Given the description of an element on the screen output the (x, y) to click on. 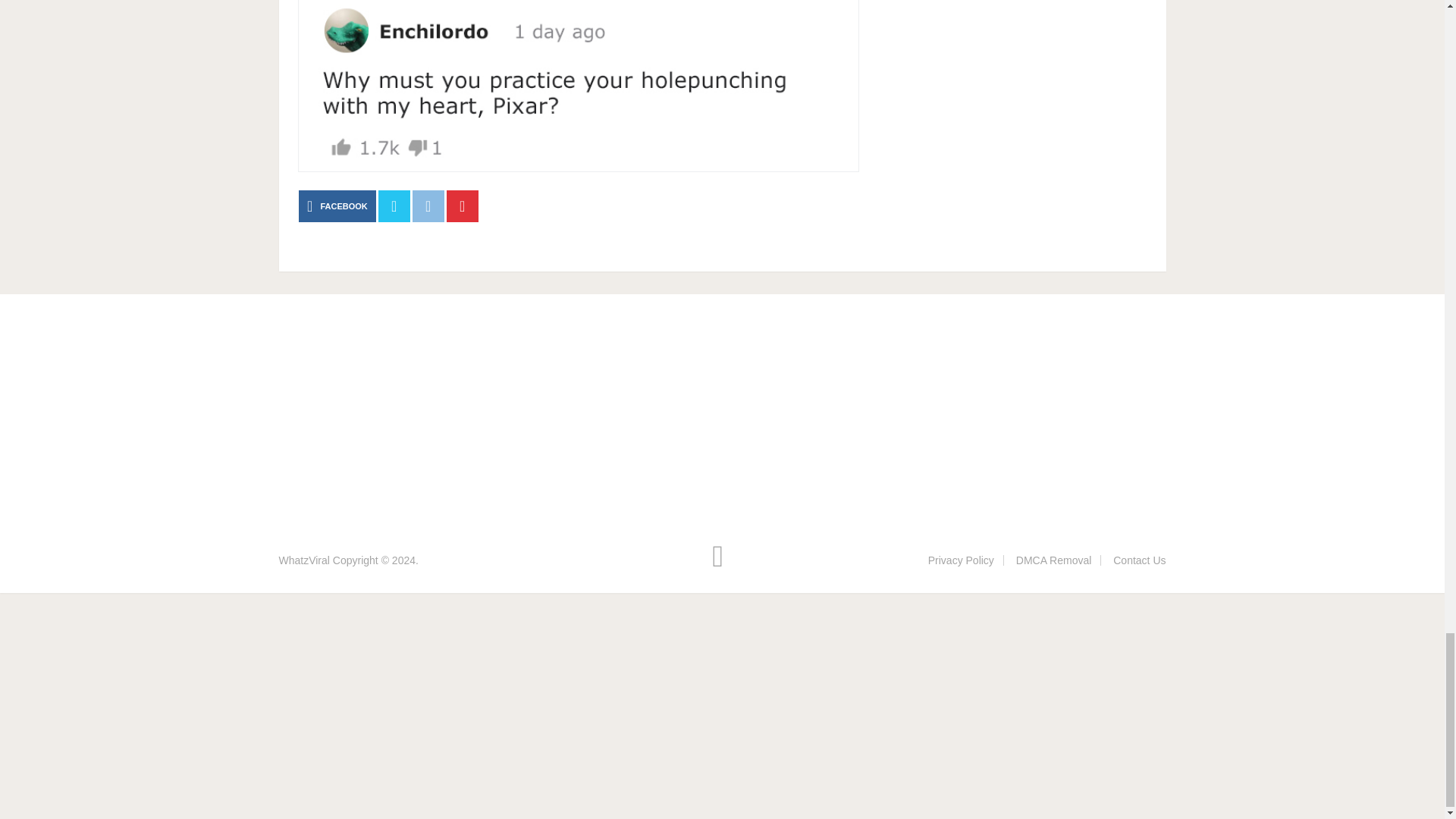
FACEBOOK (336, 205)
 Be Updated (304, 560)
